Given the description of an element on the screen output the (x, y) to click on. 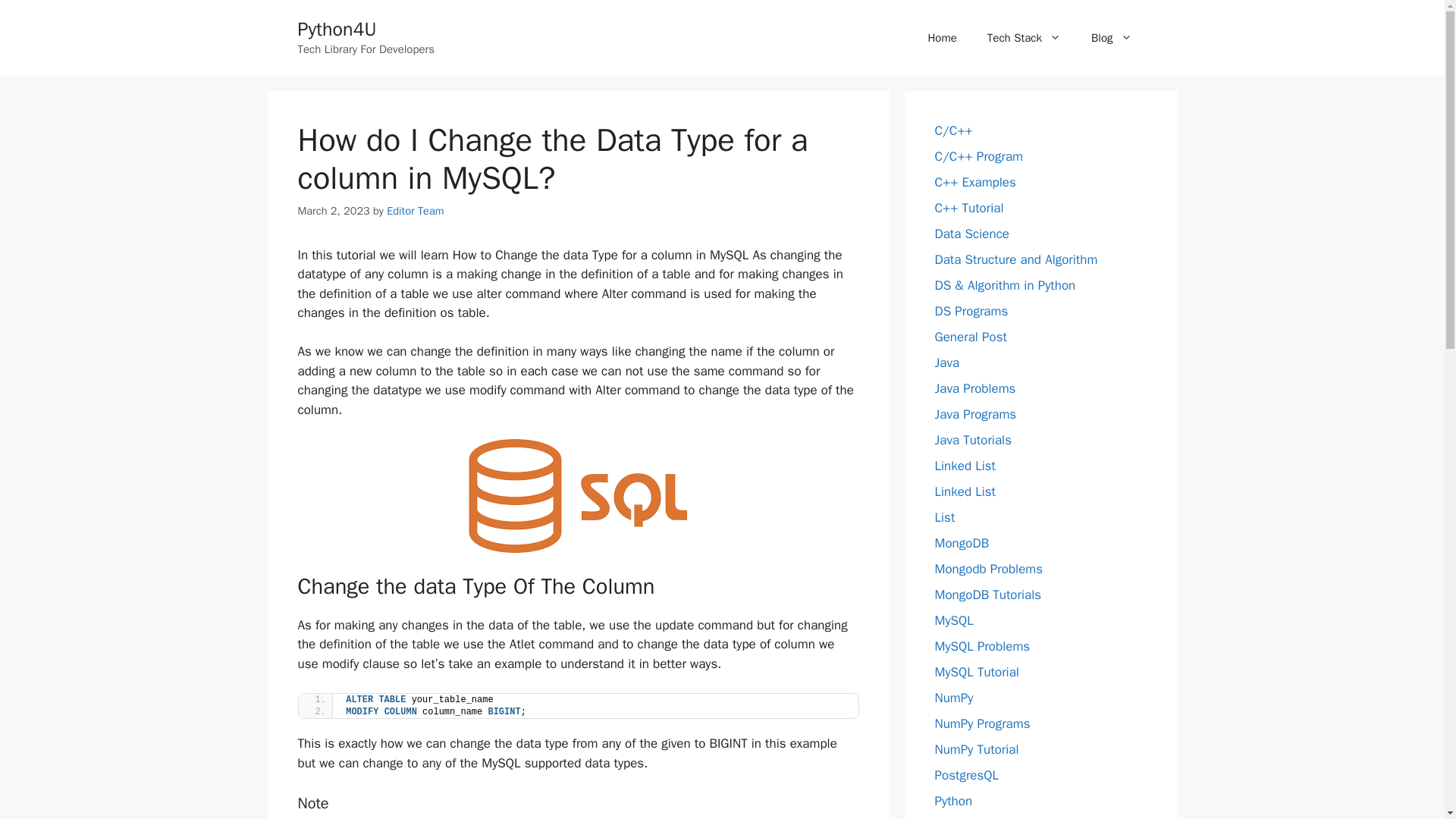
Blog (1111, 37)
Python4U (336, 28)
View all posts by Editor Team (415, 210)
Tech Stack (1023, 37)
Editor Team (415, 210)
Home (941, 37)
